Given the description of an element on the screen output the (x, y) to click on. 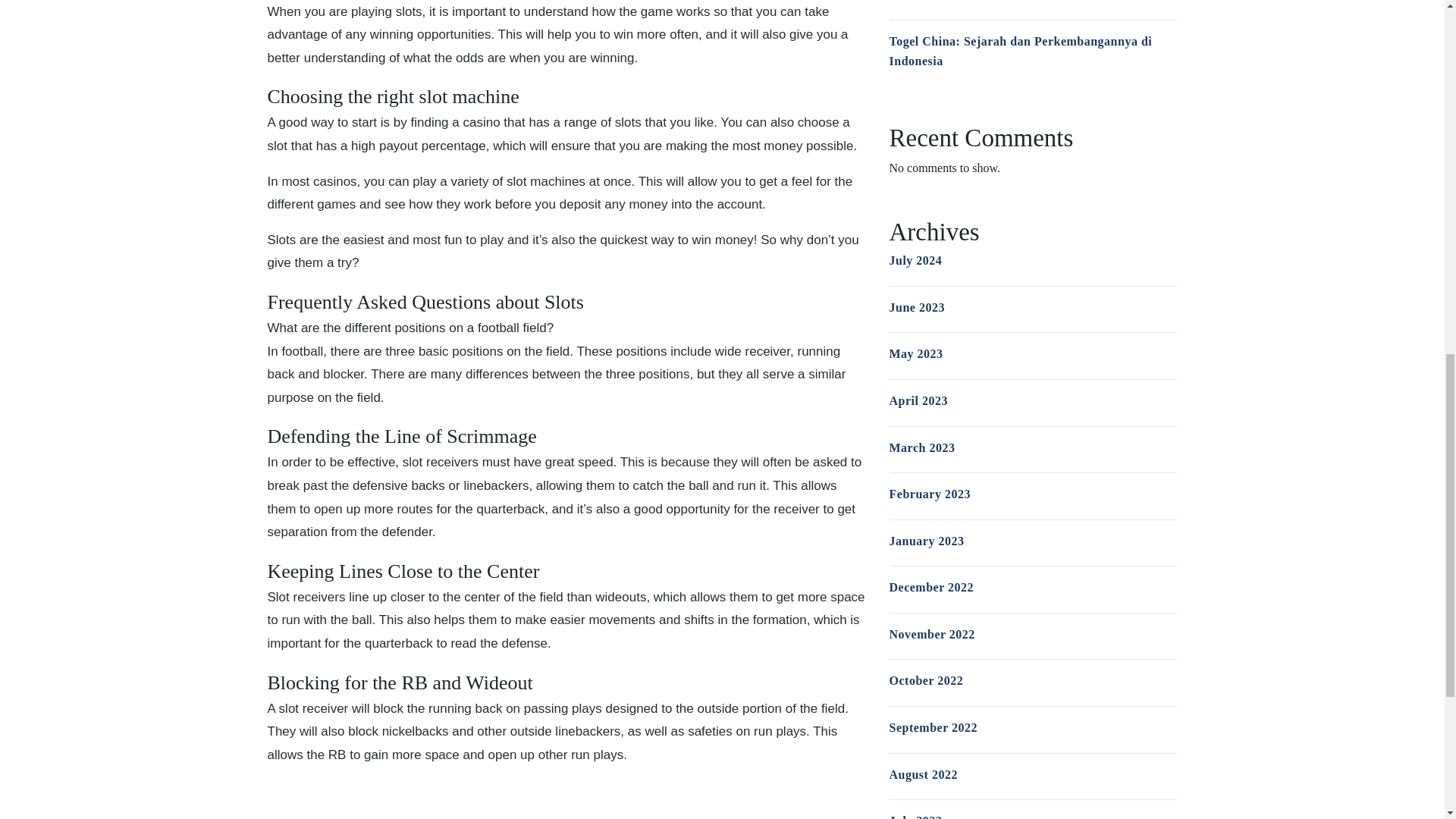
October 2022 (925, 680)
December 2022 (931, 586)
March 2023 (921, 447)
July 2024 (915, 259)
April 2023 (917, 400)
Togel China: Sejarah dan Perkembangannya di Indonesia (1019, 51)
November 2022 (931, 634)
August 2022 (922, 774)
May 2023 (915, 353)
September 2022 (932, 727)
July 2022 (915, 816)
February 2023 (928, 493)
January 2023 (925, 540)
June 2023 (915, 307)
